Given the description of an element on the screen output the (x, y) to click on. 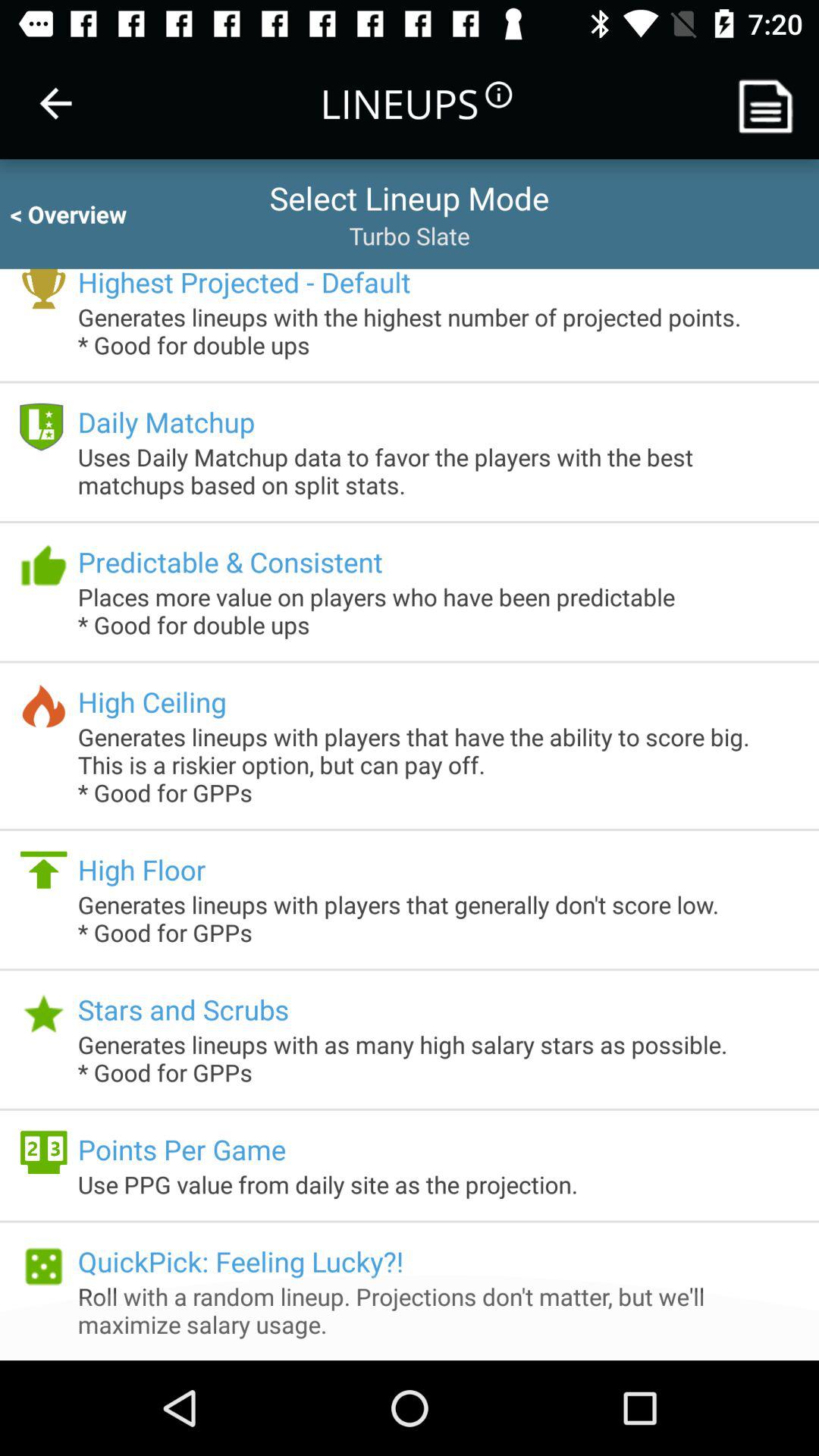
choose the icon next to lineups (55, 103)
